Given the description of an element on the screen output the (x, y) to click on. 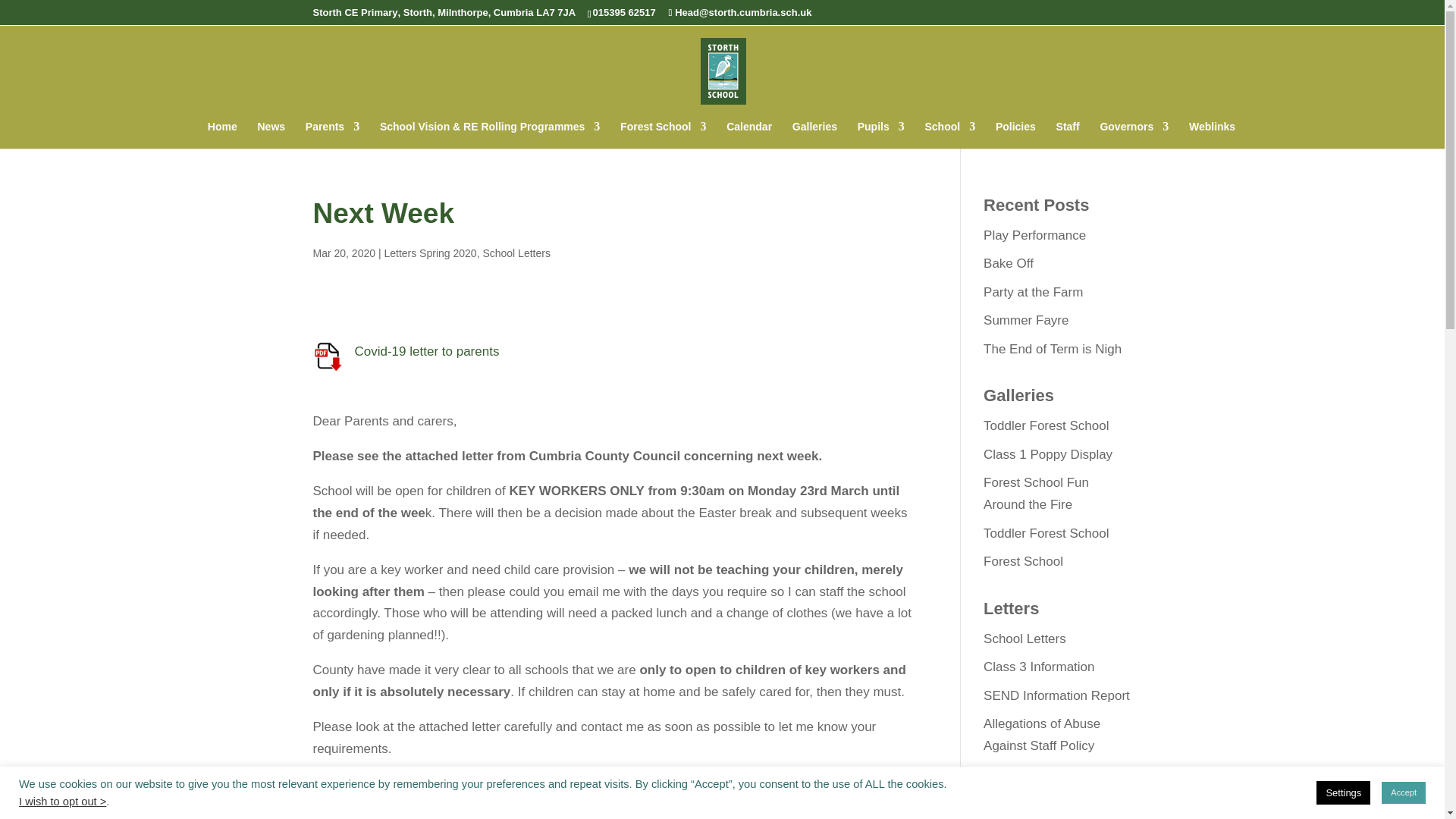
Galleries (814, 134)
Storth CE Primary, Storth, Milnthorpe, Cumbria LA7 7JA (444, 12)
News (271, 134)
Home (222, 134)
Calendar (748, 134)
Forest School (663, 134)
School (949, 134)
Pupils (880, 134)
Parents (332, 134)
